Given the description of an element on the screen output the (x, y) to click on. 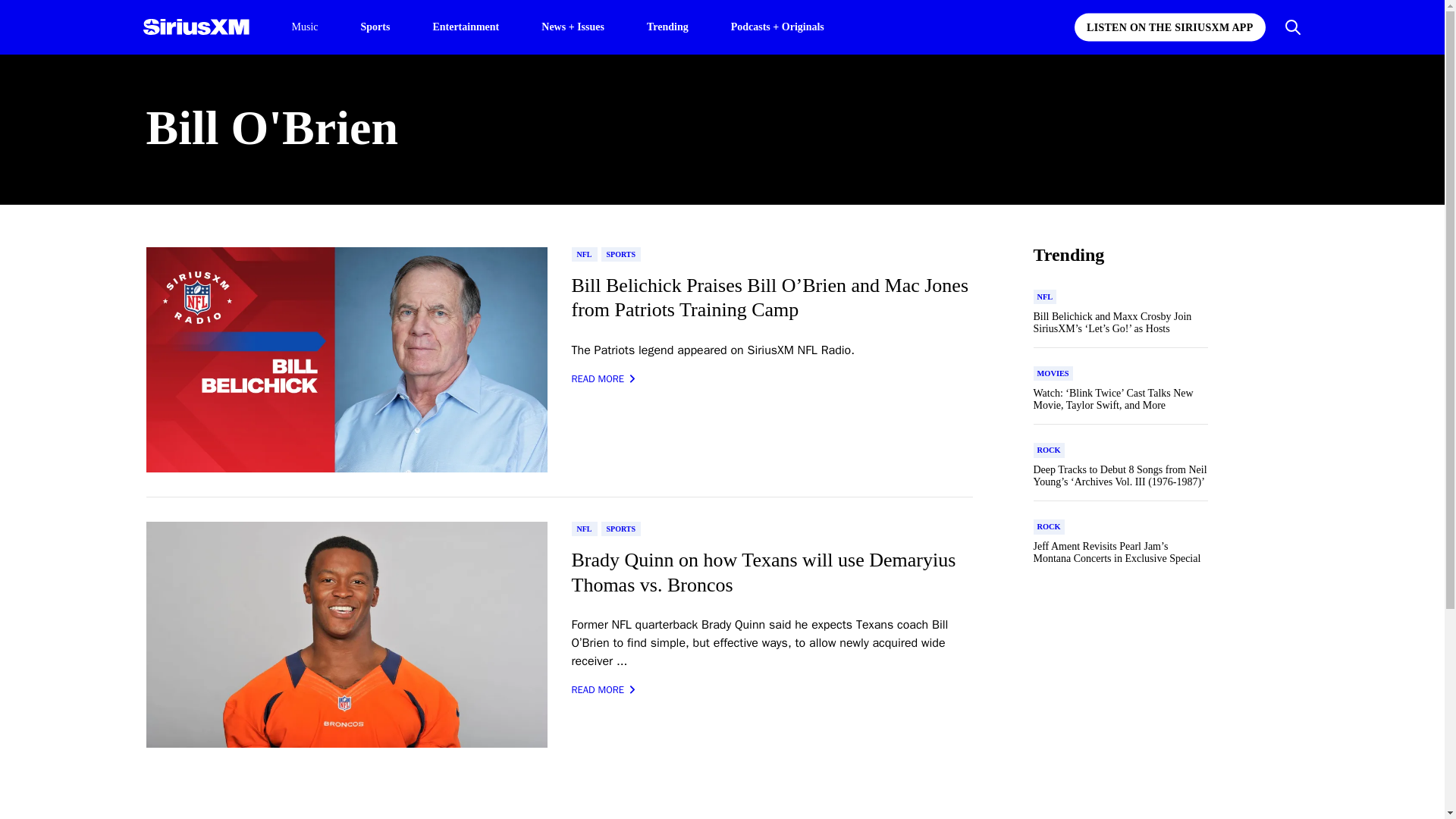
NFL (584, 254)
MOVIES (1051, 373)
READ MORE (603, 378)
Sports (375, 26)
LISTEN ON THE SIRIUSXM APP (1169, 27)
ROCK (1048, 526)
Trending (667, 26)
SPORTS (619, 528)
Music (304, 26)
